Given the description of an element on the screen output the (x, y) to click on. 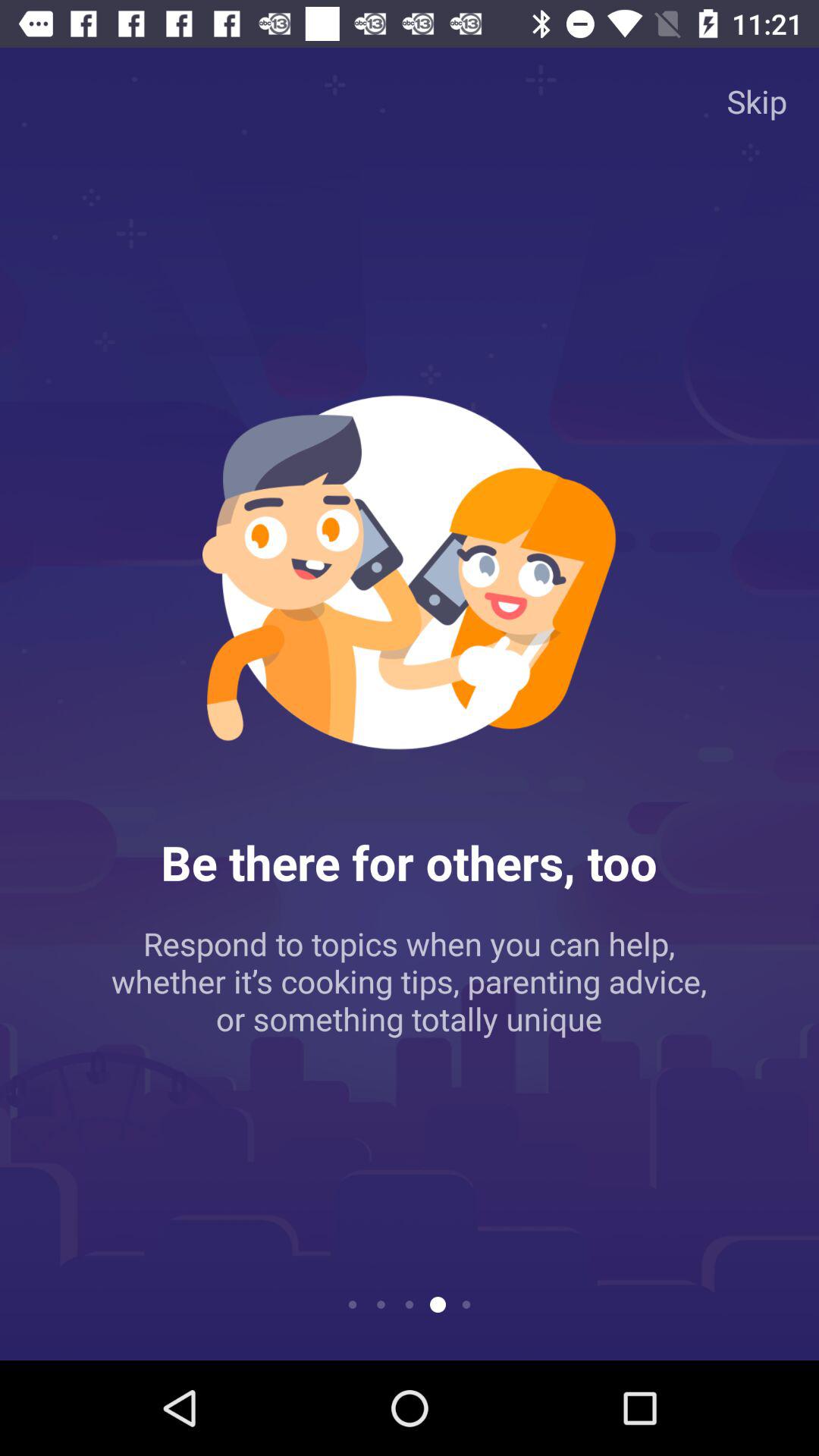
turn on the skip (756, 100)
